Given the description of an element on the screen output the (x, y) to click on. 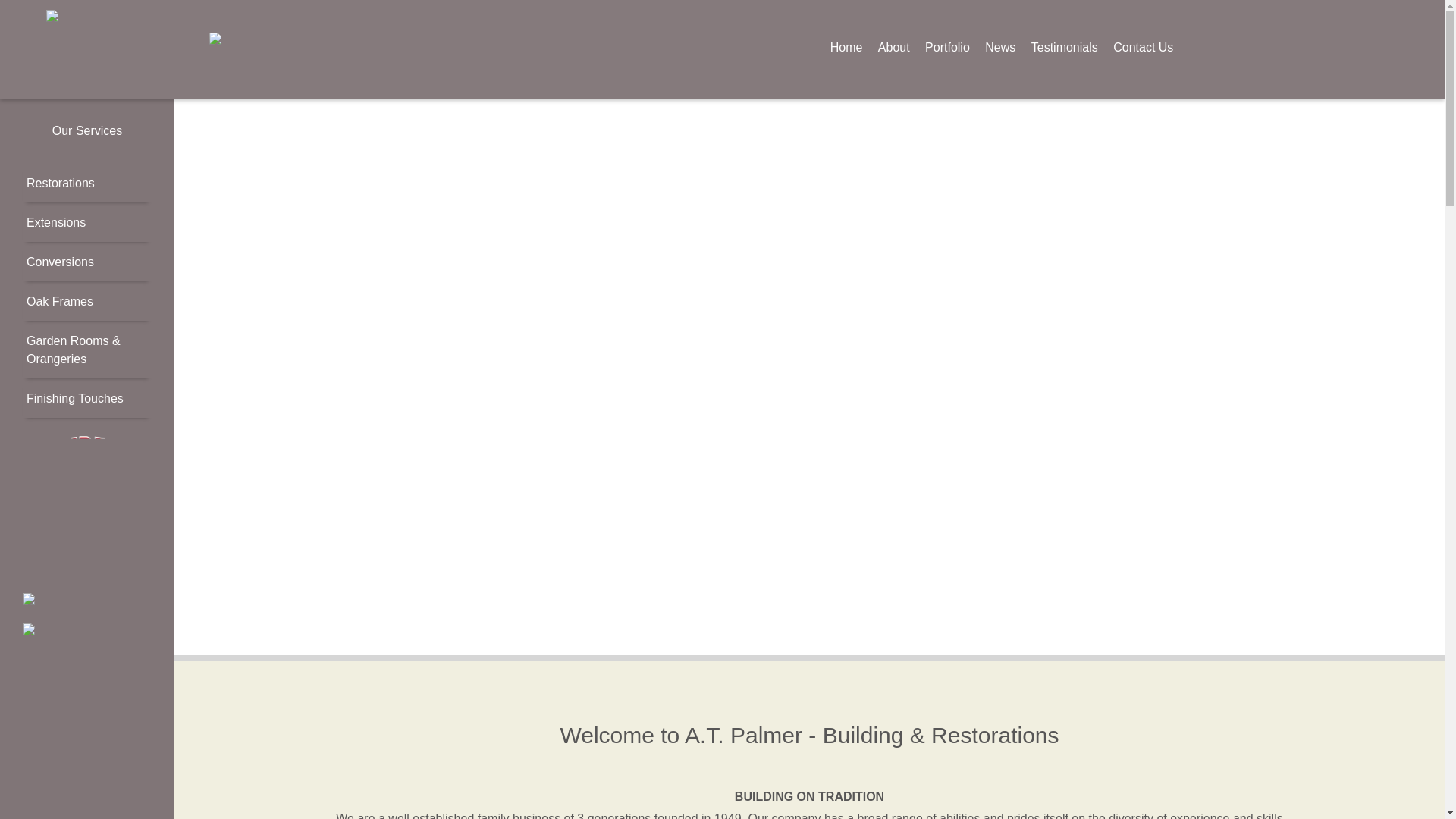
Oak Frames (59, 300)
News (999, 47)
Contact Us (1143, 47)
Portfolio (946, 47)
Finishing Touches (74, 398)
Conversions (60, 261)
Extensions (55, 222)
Restorations (60, 182)
Testimonials (1063, 47)
Send (19, 7)
Home (846, 47)
About (893, 47)
